Given the description of an element on the screen output the (x, y) to click on. 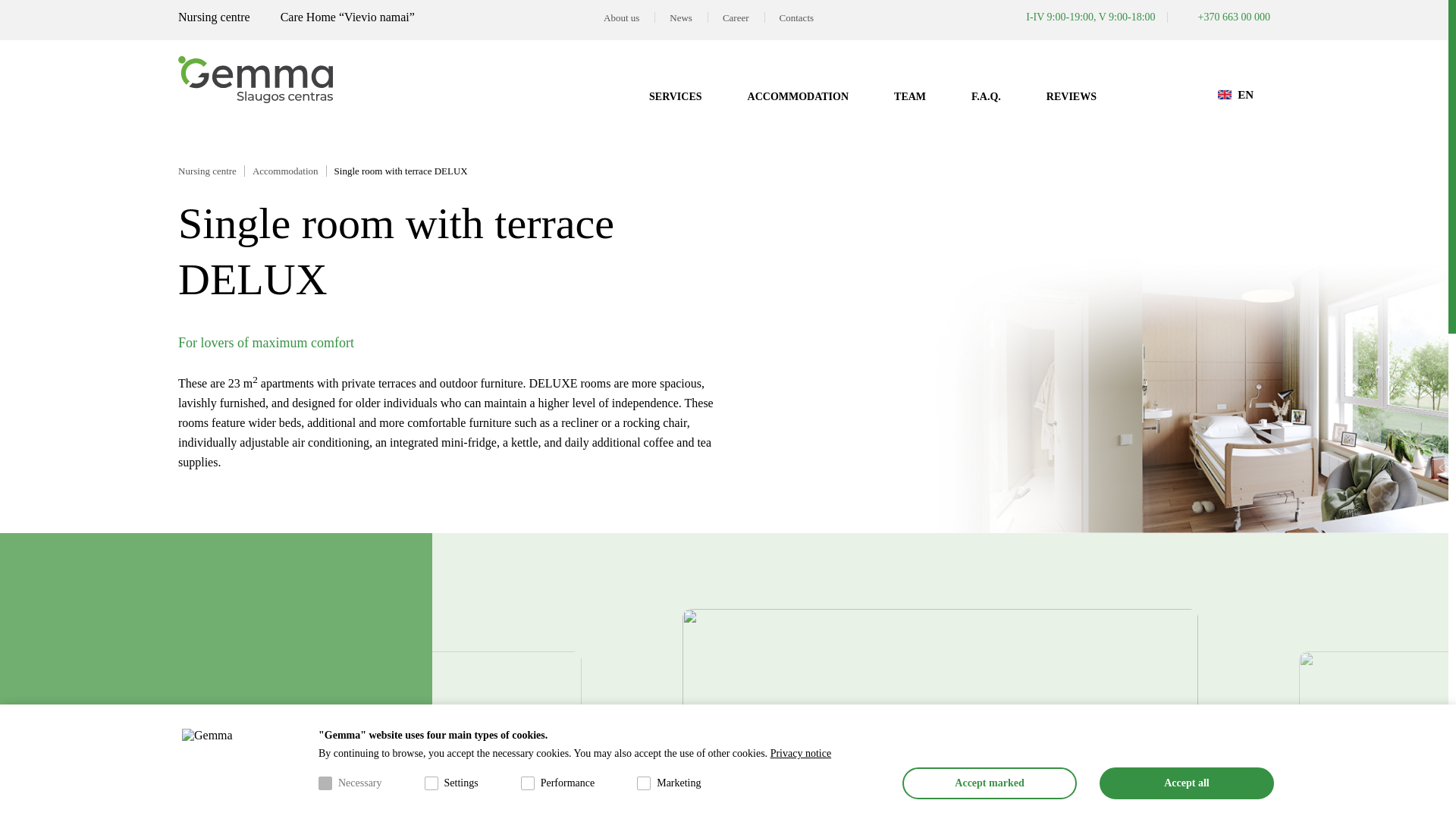
SERVICES (675, 96)
Career (735, 17)
Privacy notice (800, 753)
Accept all (1186, 783)
Nursing centre (210, 170)
Single room with terrace DELUX (405, 170)
Reviews (1071, 96)
News (680, 17)
Nursing centre (213, 17)
About us (620, 17)
News (680, 17)
About us (620, 17)
F.A.Q. (986, 96)
Career (735, 17)
Nursing centre (213, 17)
